Given the description of an element on the screen output the (x, y) to click on. 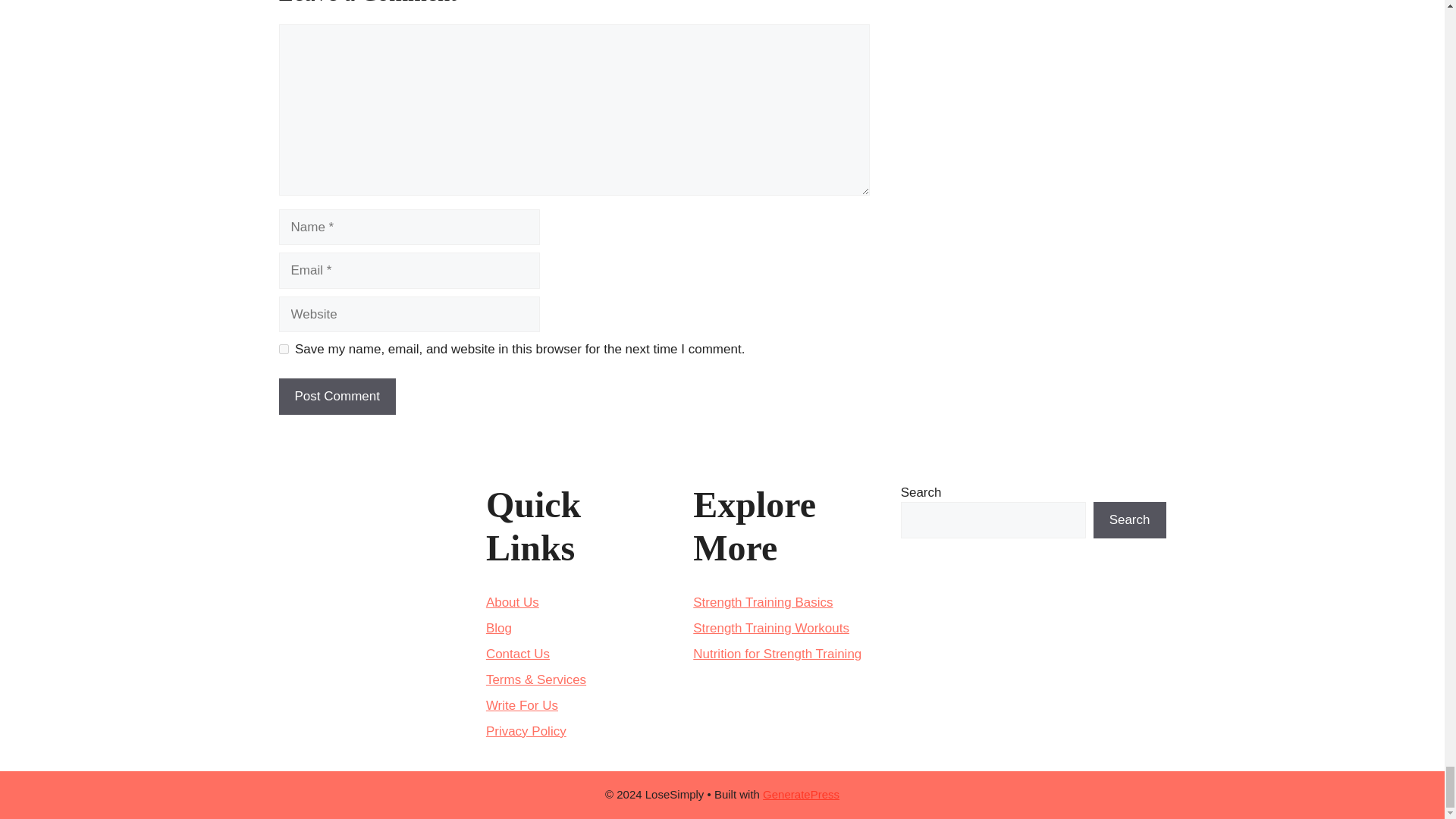
Post Comment (337, 396)
yes (283, 348)
